Given the description of an element on the screen output the (x, y) to click on. 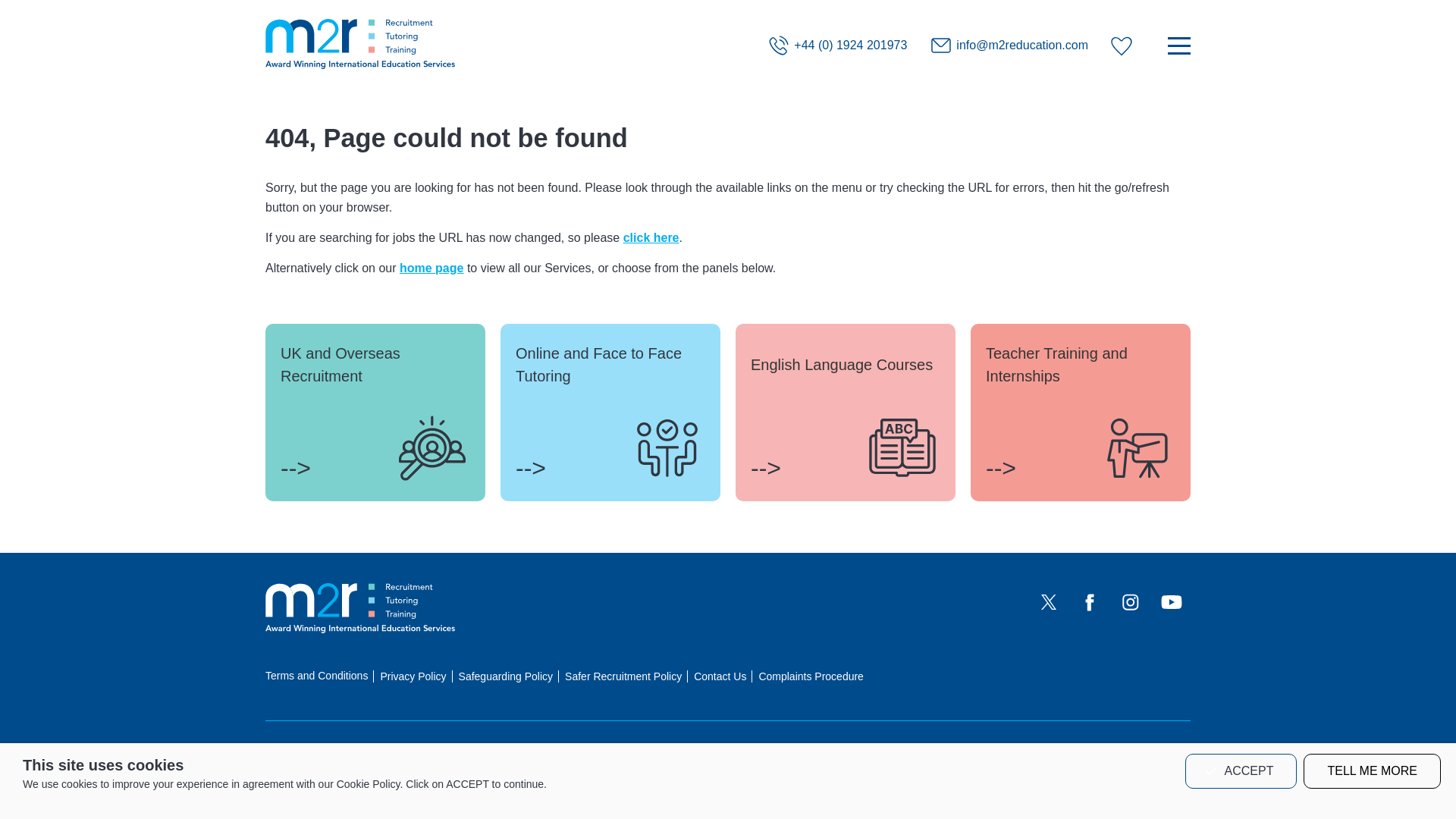
click here (651, 237)
Terms and Conditions (316, 675)
Saved Vacancies (1122, 45)
home page (430, 267)
